Given the description of an element on the screen output the (x, y) to click on. 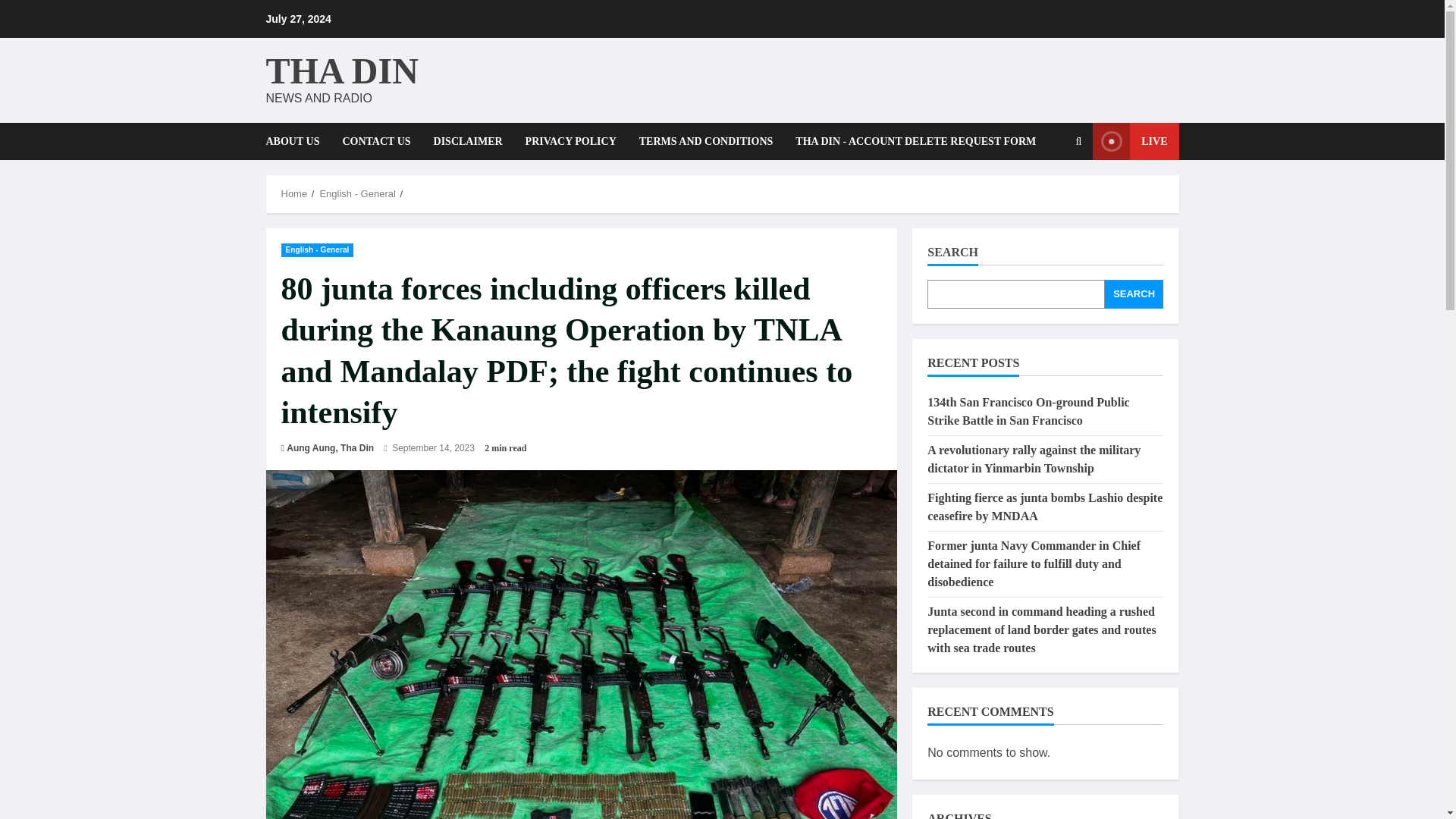
LIVE (1135, 140)
SEARCH (1134, 294)
Search (1078, 141)
CONTACT US (376, 140)
DISCLAIMER (467, 140)
Home (294, 193)
English - General (317, 249)
Aung Aung, Tha Din (330, 448)
THA DIN - ACCOUNT DELETE REQUEST FORM (909, 140)
PRIVACY POLICY (570, 140)
THA DIN (340, 70)
